Given the description of an element on the screen output the (x, y) to click on. 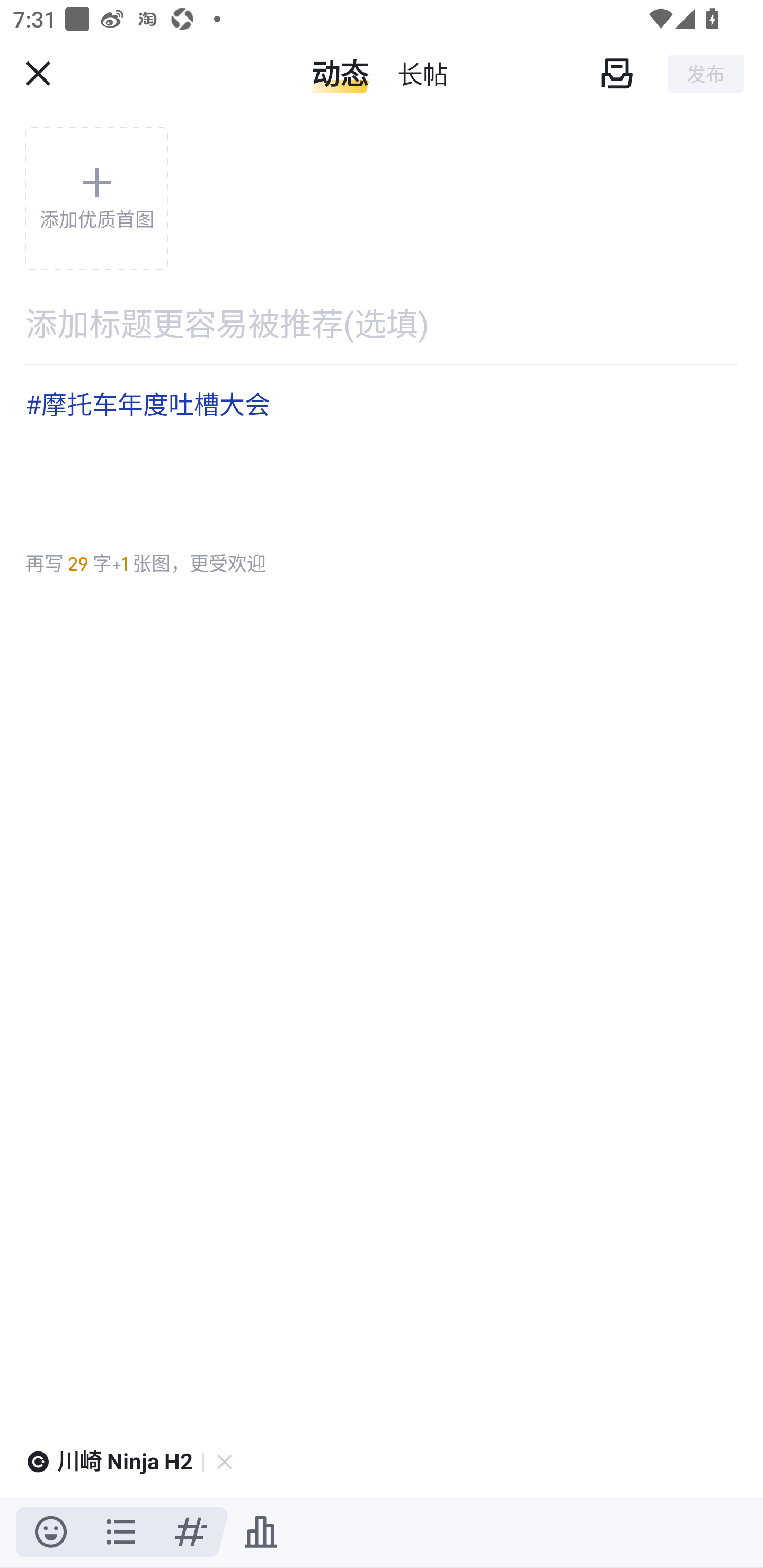
动态 (340, 72)
 (38, 73)
 (616, 73)
发布 (705, 73)
长帖 (422, 73)
 添加优质首图 (96, 198)
添加标题更容易被推荐(选填) (381, 322)
#摩托车年度吐槽大会
 (381, 450)
再写 29 字+1 张图，更受欢迎 (145, 563)
川崎 Ninja H2 (125, 1461)
 (260, 1531)
 (51, 1531)
 (190, 1531)
